Given the description of an element on the screen output the (x, y) to click on. 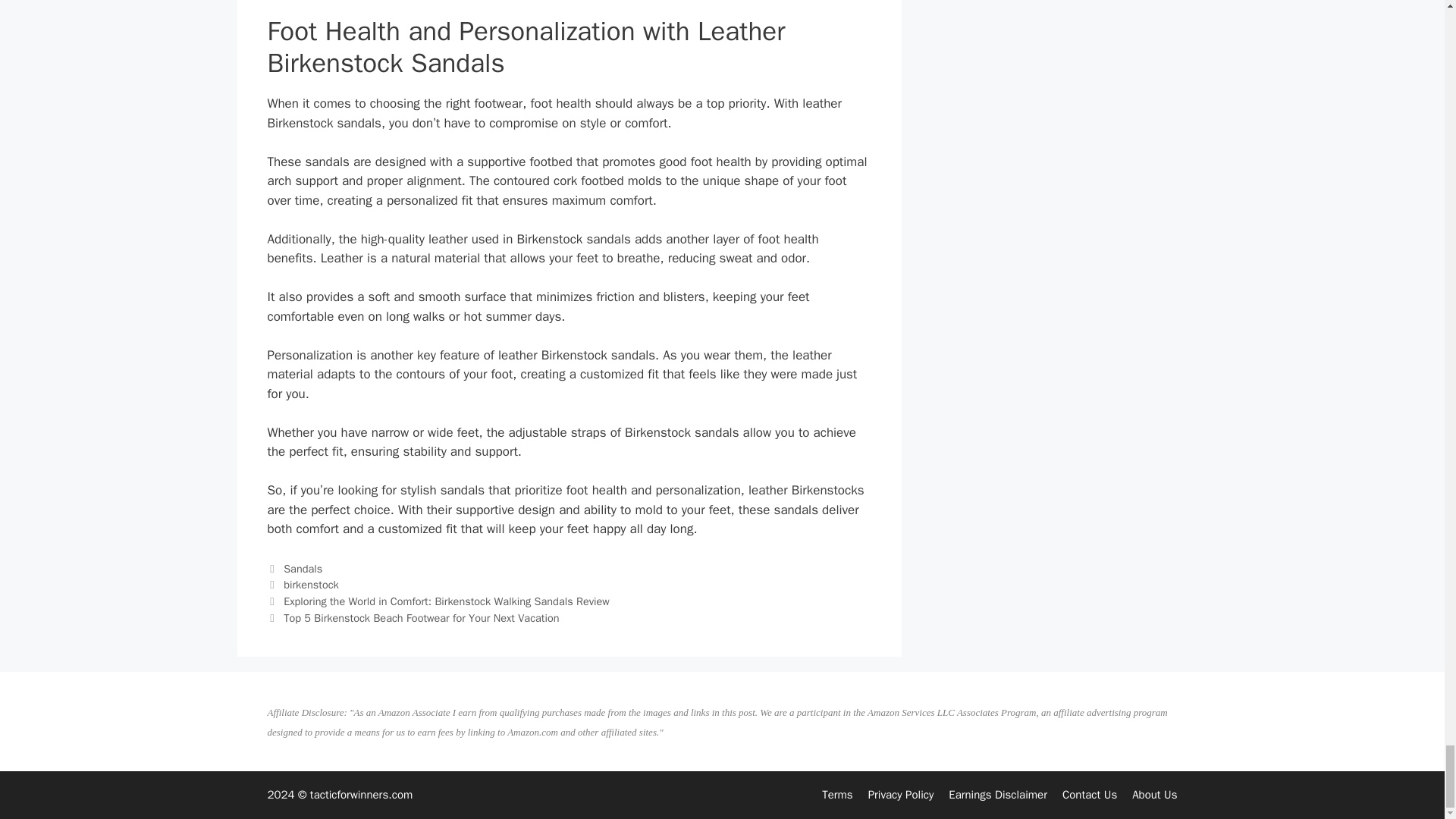
Contact Us (1089, 794)
Privacy Policy (900, 794)
Top 5 Birkenstock Beach Footwear for Your Next Vacation (421, 617)
birkenstock (311, 584)
Sandals (302, 568)
Earnings Disclaimer (997, 794)
Terms (836, 794)
About Us (1154, 794)
